Given the description of an element on the screen output the (x, y) to click on. 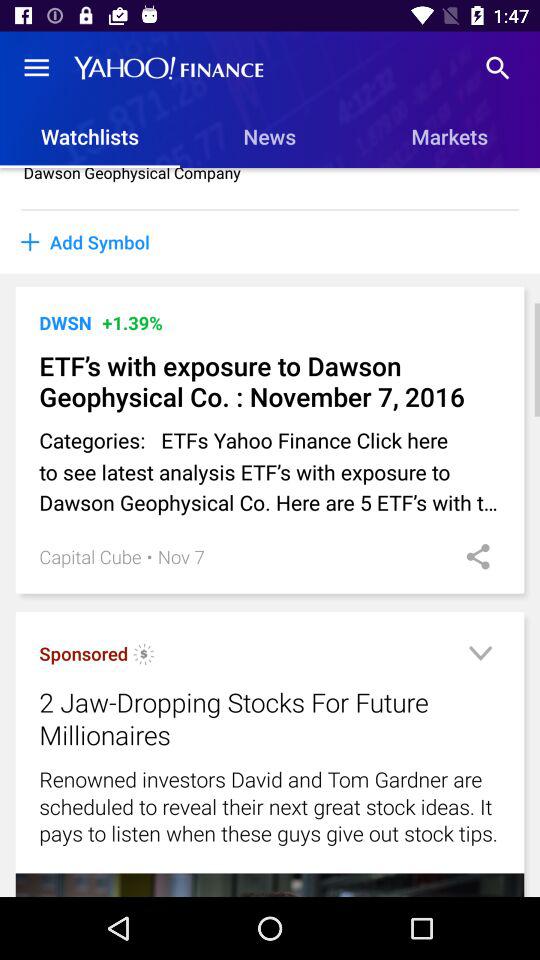
tap the icon above markets (497, 67)
